Given the description of an element on the screen output the (x, y) to click on. 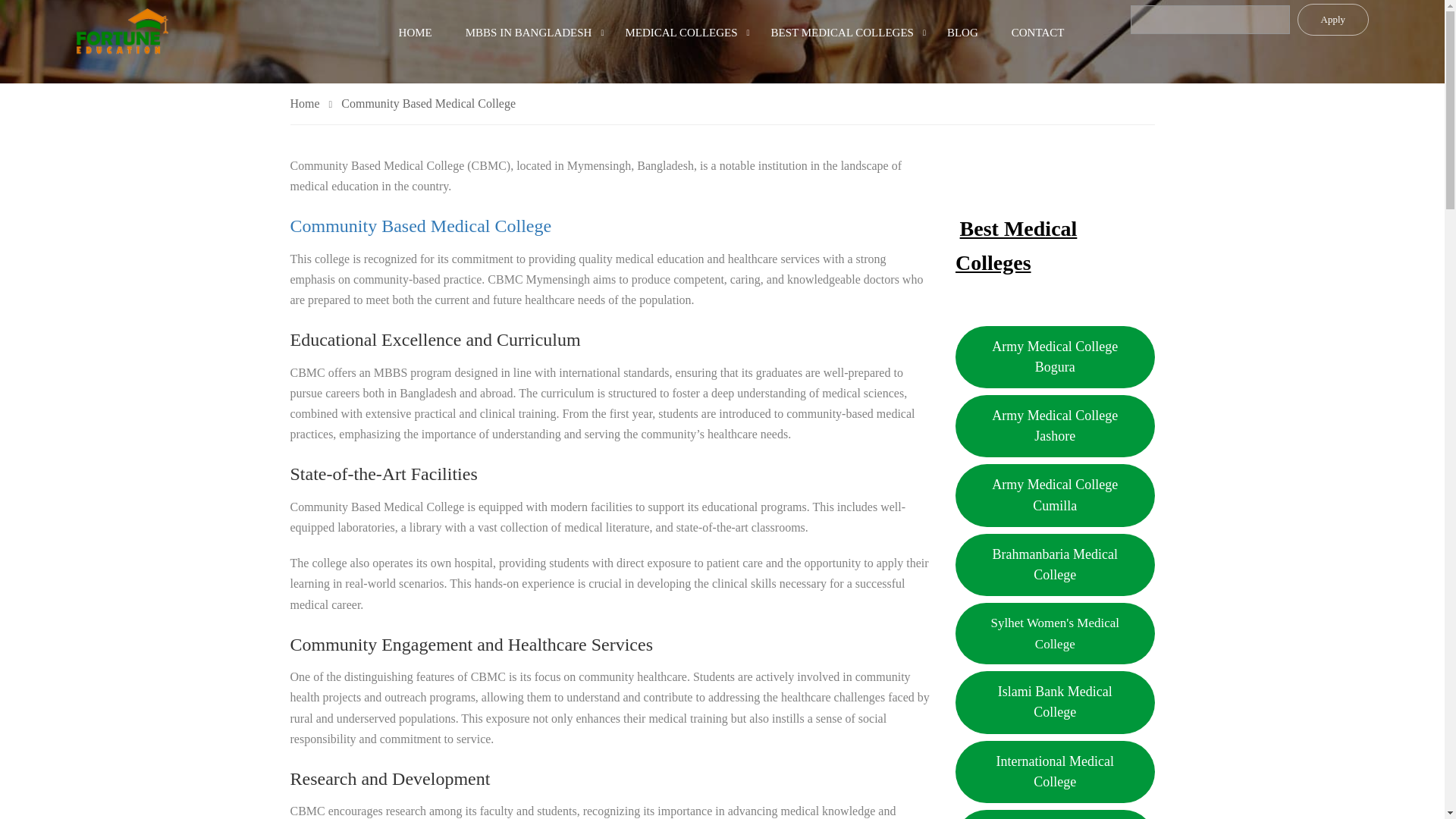
Fortune Education Consultancy - MBBS Admission Consultant (121, 31)
